Given the description of an element on the screen output the (x, y) to click on. 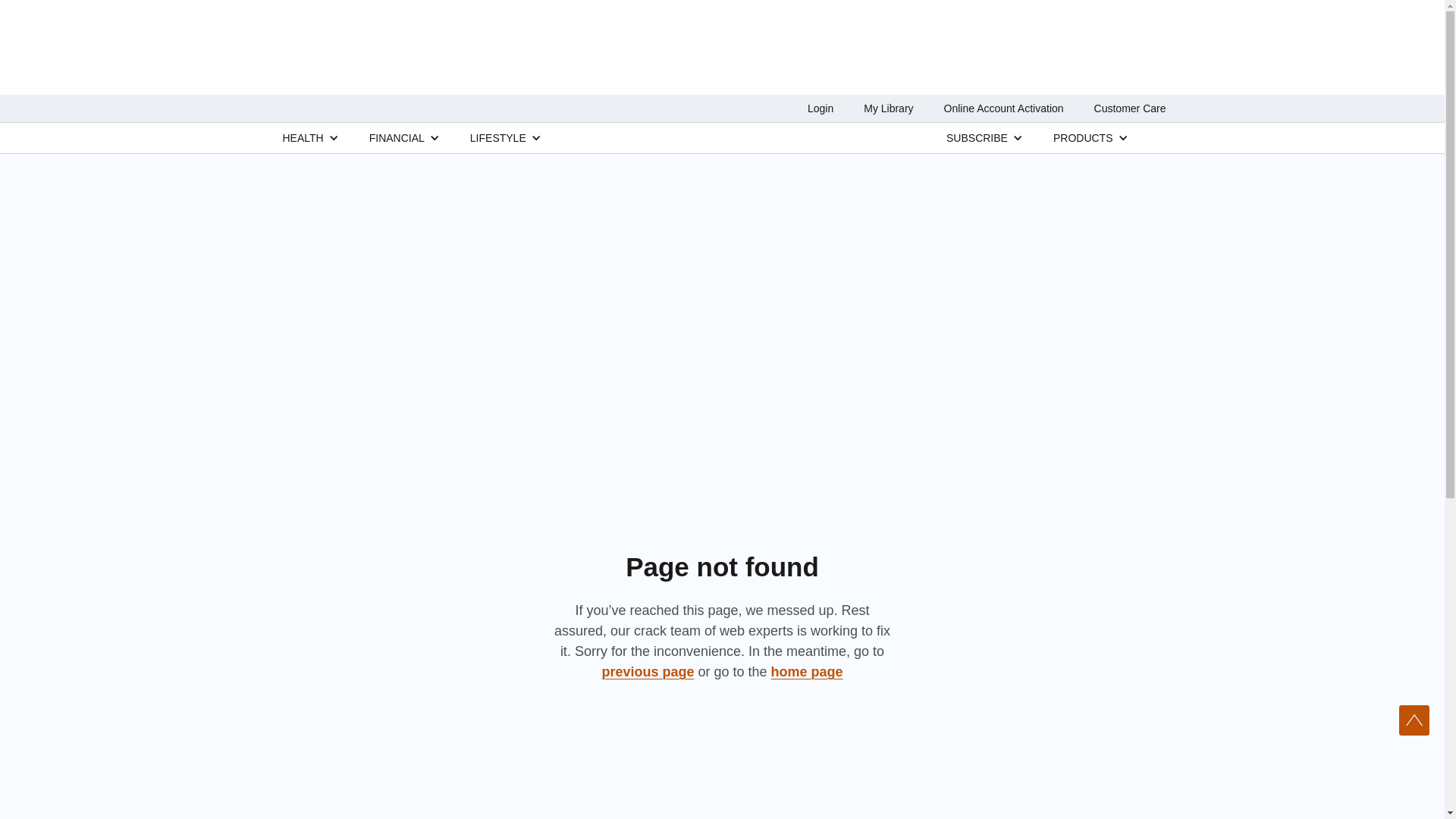
Scroll To Top (1414, 720)
Scroll To Top (1414, 720)
My Library (887, 108)
Online Account Activation (1003, 108)
LIFESTYLE (497, 137)
Login (820, 108)
Customer Care (1130, 108)
HEALTH (302, 137)
FINANCIAL (397, 137)
Scroll To Top (1414, 720)
